Given the description of an element on the screen output the (x, y) to click on. 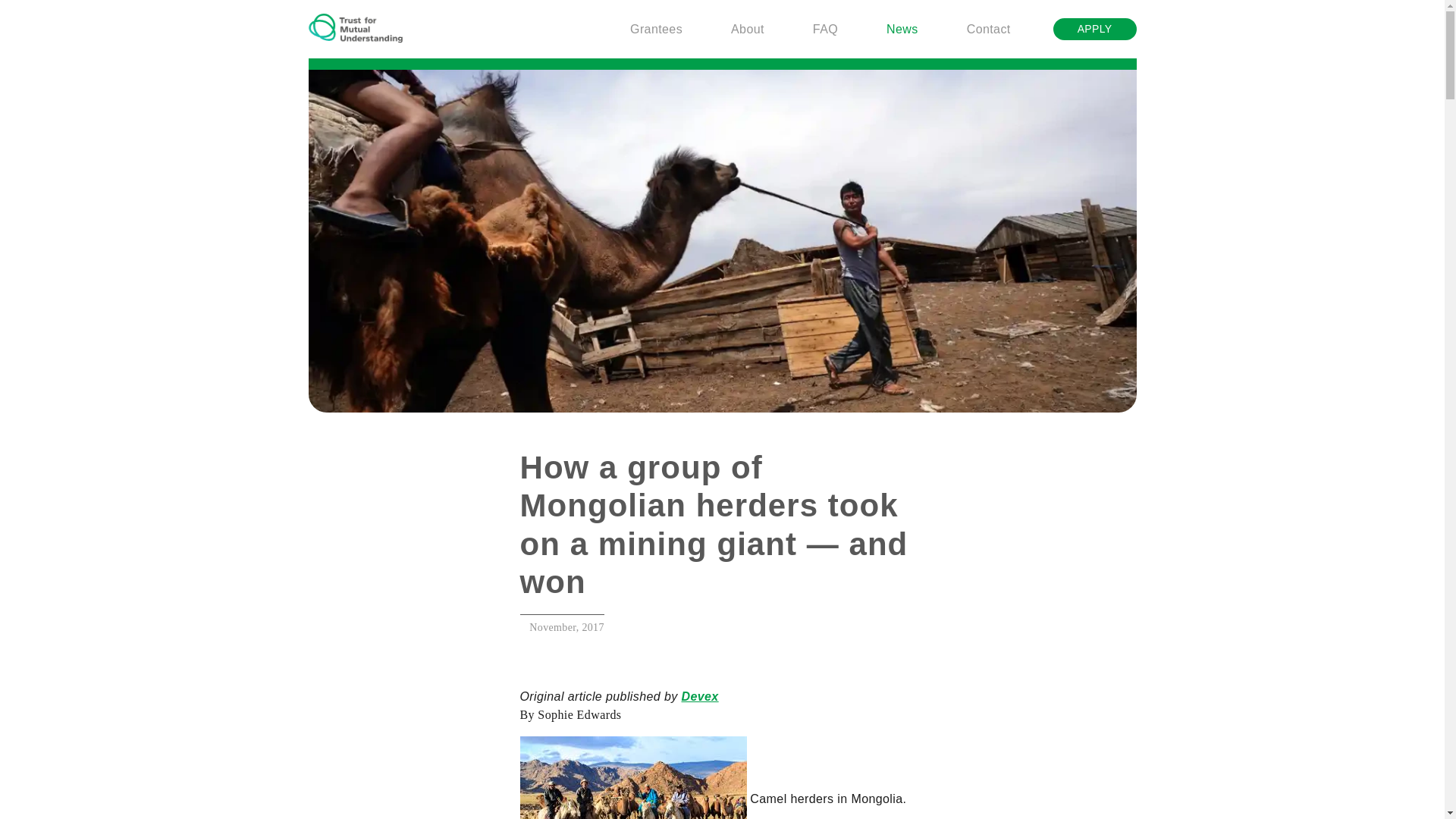
Grantees (656, 28)
Trust for Mutual Understanding (354, 28)
APPLY (1094, 29)
News (902, 28)
About (747, 28)
FAQ (825, 28)
Devex (699, 696)
Contact (988, 28)
